Given the description of an element on the screen output the (x, y) to click on. 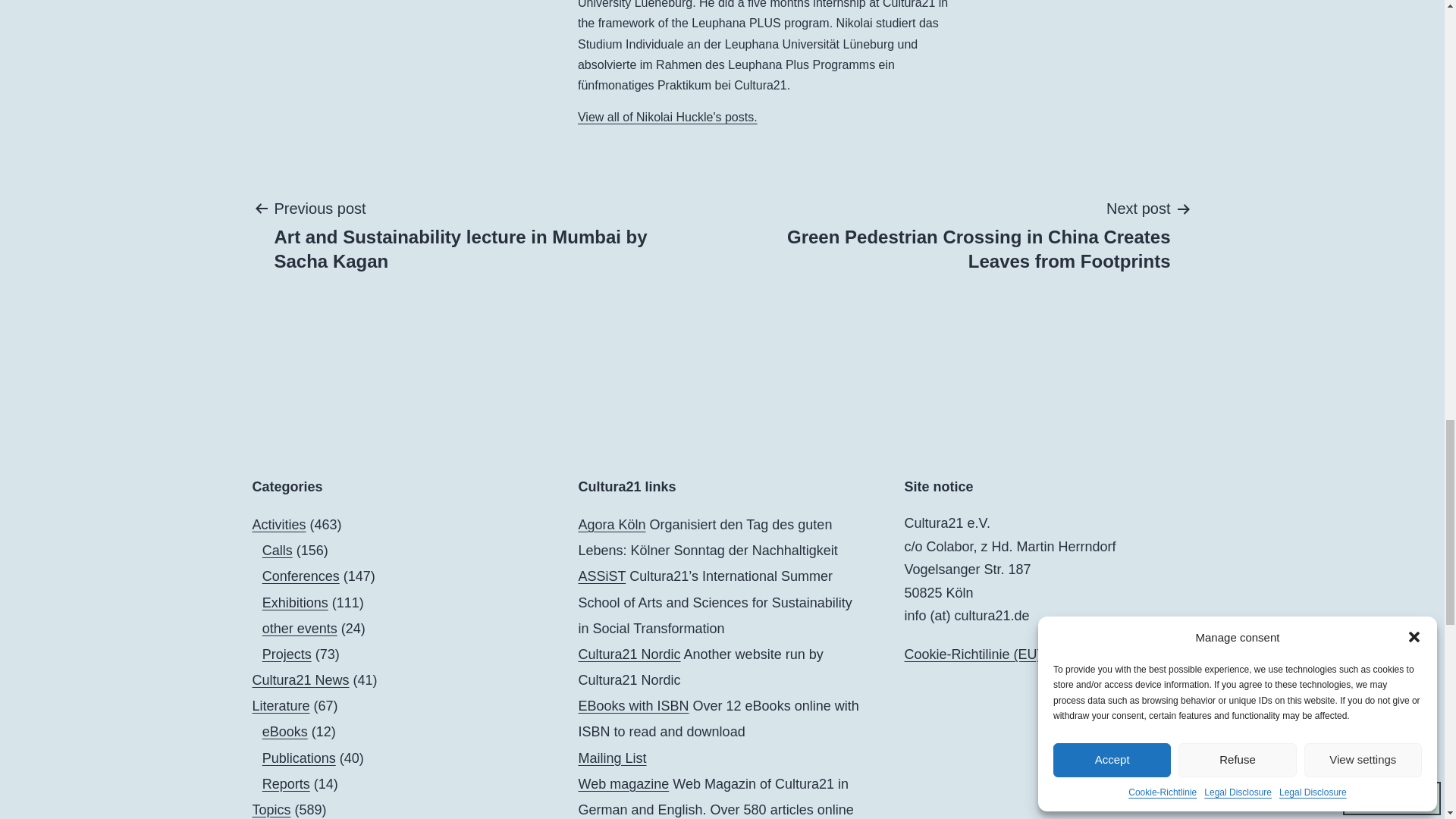
Another website run by Cultura21 Nordic (628, 654)
View all of Nikolai Huckle's posts. (667, 116)
Over 12 eBooks online with ISBN to read and download (633, 705)
